Given the description of an element on the screen output the (x, y) to click on. 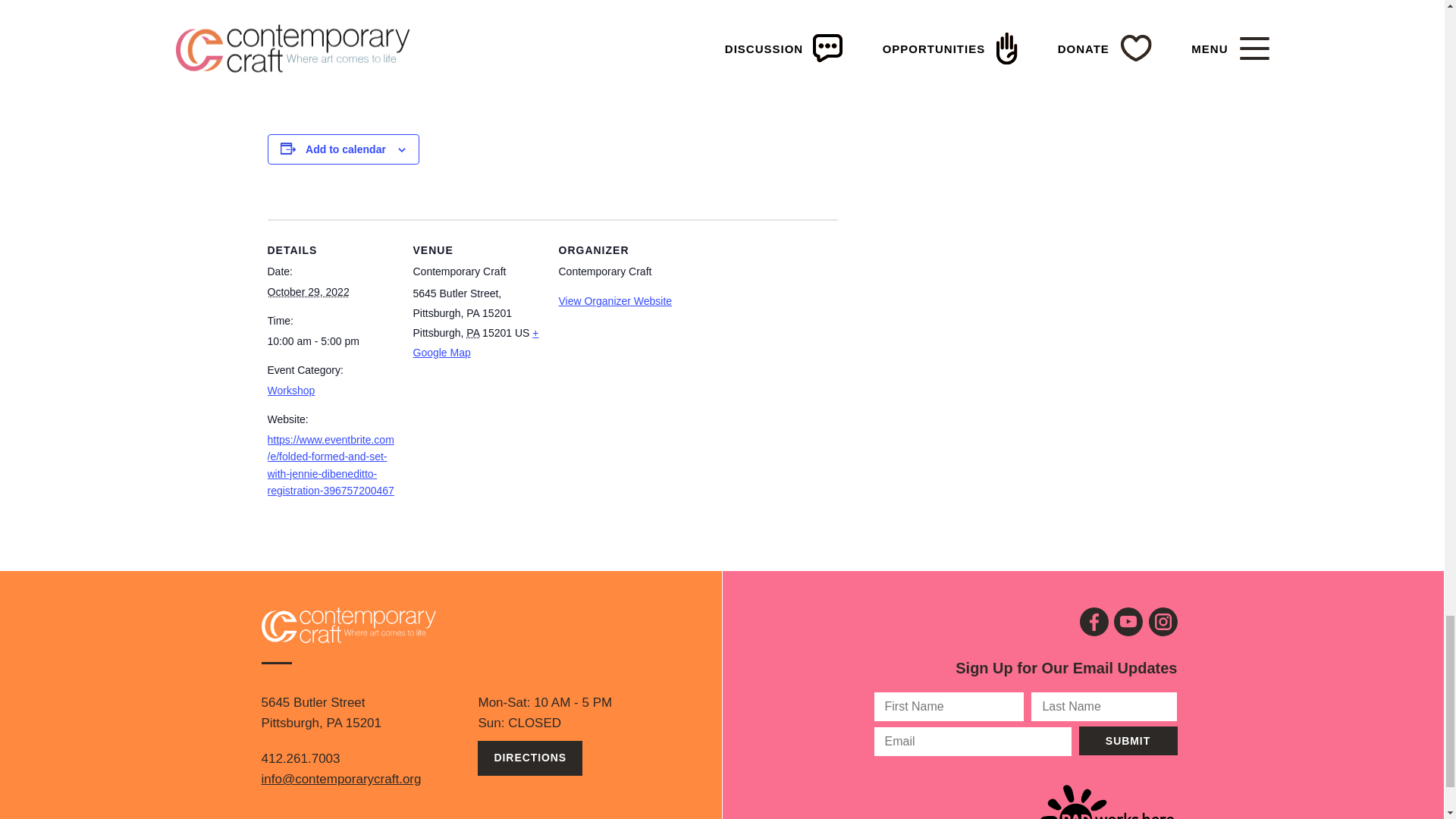
Submit (1127, 740)
2022-10-29 (330, 340)
Click to view a Google Map (475, 342)
Pennsylvania (472, 332)
2022-10-29 (307, 291)
